Given the description of an element on the screen output the (x, y) to click on. 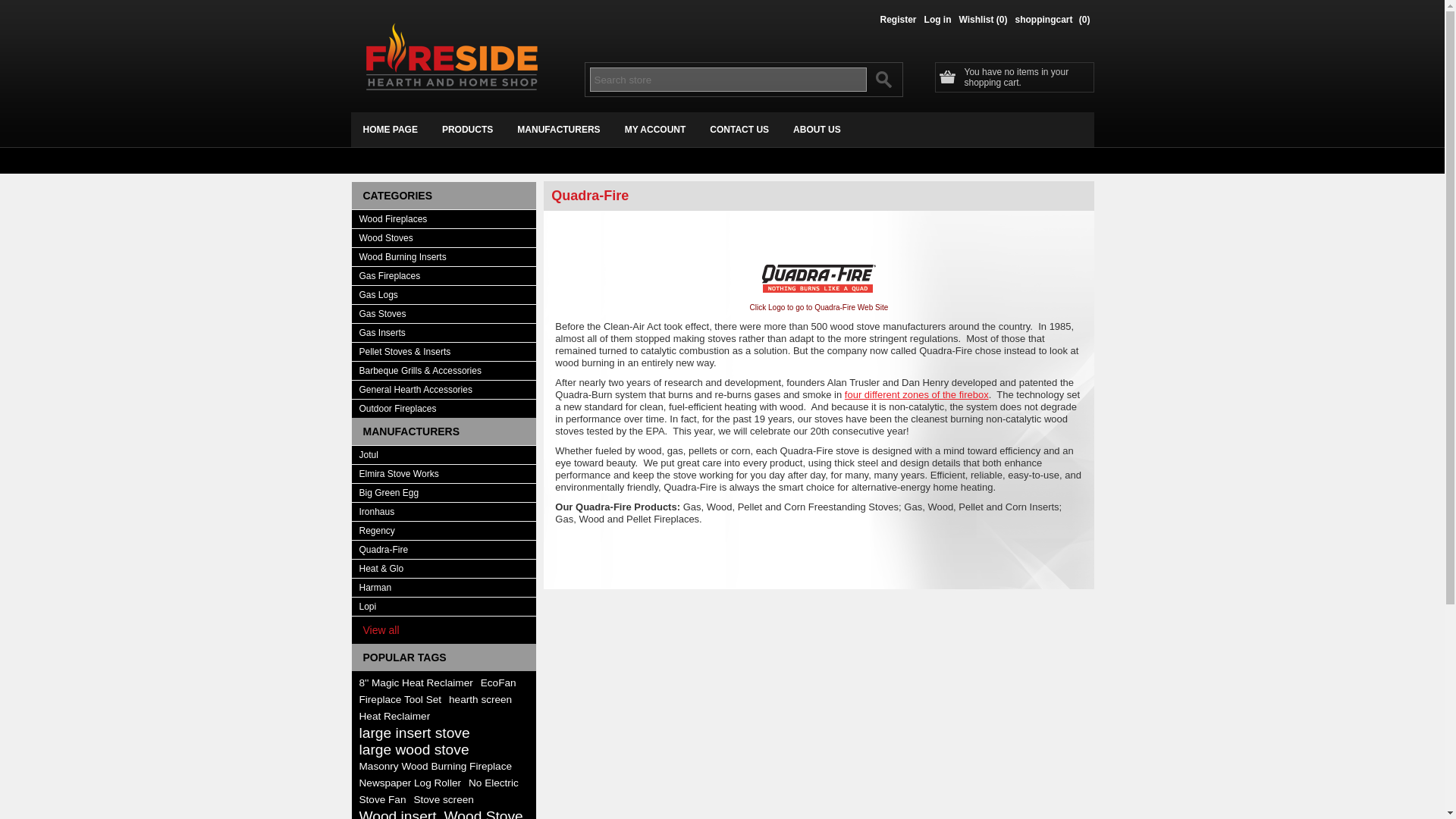
Search store (727, 79)
Search (882, 79)
Search (882, 79)
FiresideMurphy (451, 56)
Register (898, 23)
Search (882, 79)
Home page (389, 129)
Search store (727, 79)
HOME PAGE (389, 129)
